Given the description of an element on the screen output the (x, y) to click on. 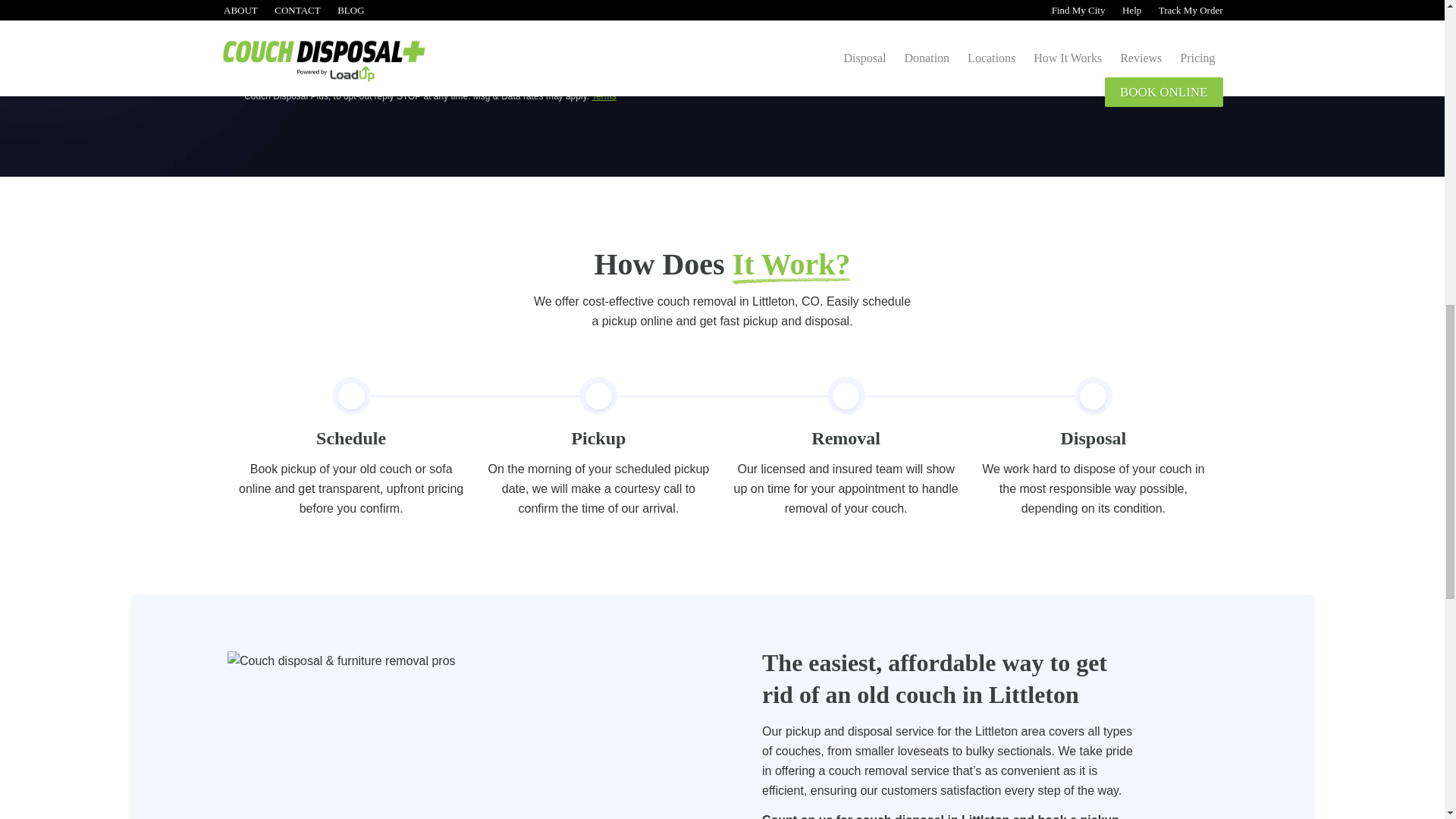
Terms (603, 95)
